Given the description of an element on the screen output the (x, y) to click on. 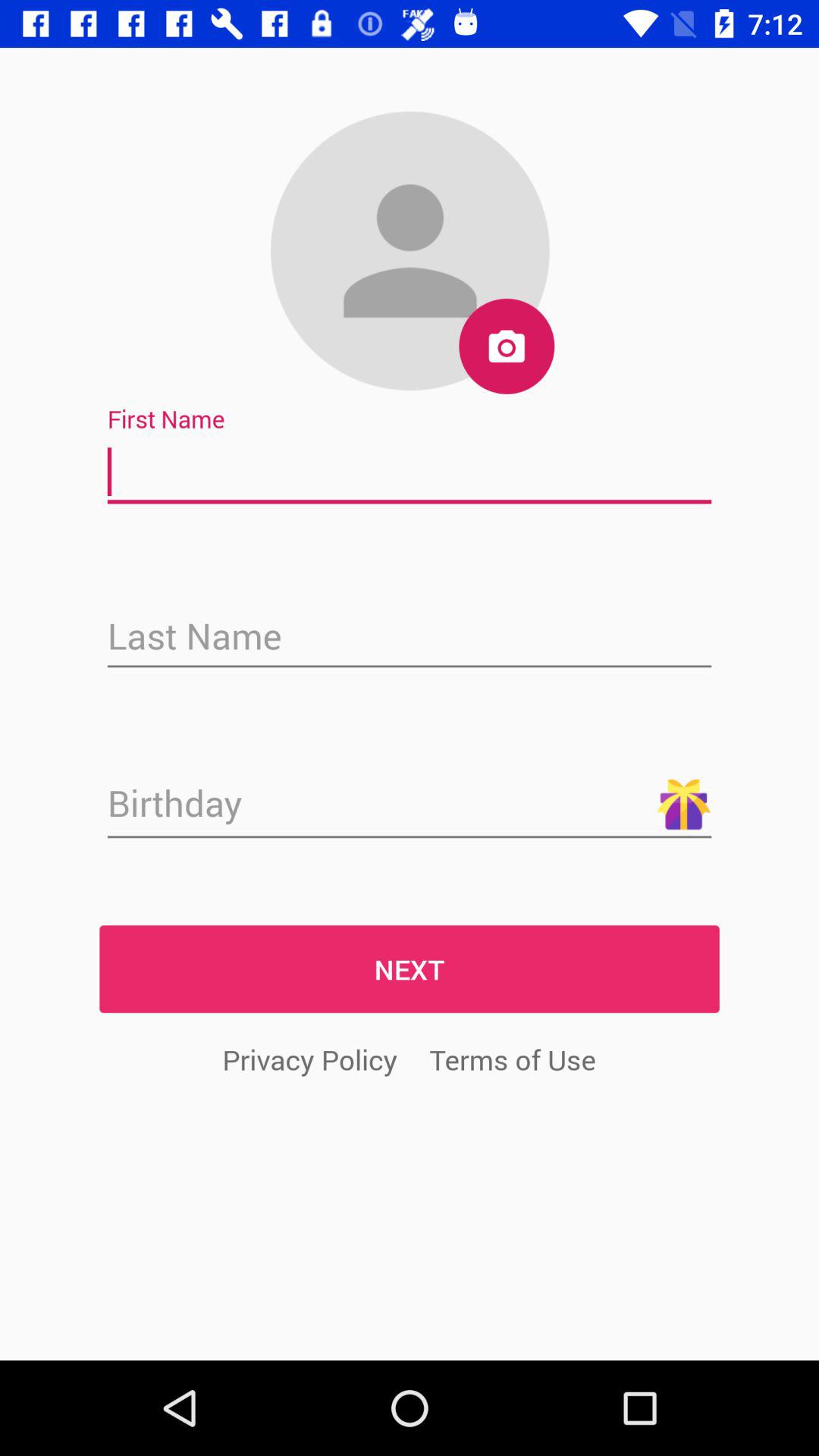
remember the date show (409, 804)
